Given the description of an element on the screen output the (x, y) to click on. 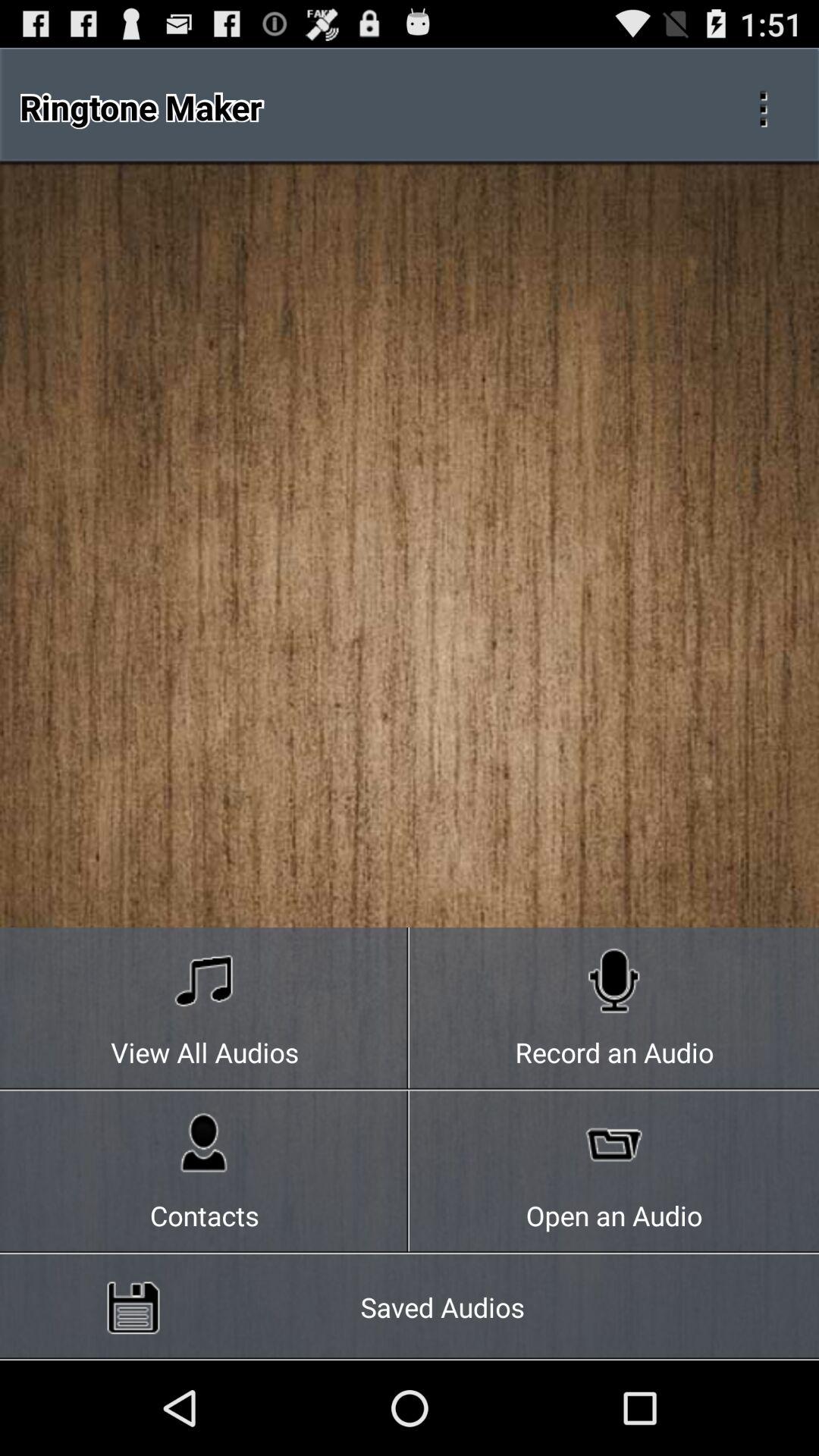
find more settings (762, 107)
